Given the description of an element on the screen output the (x, y) to click on. 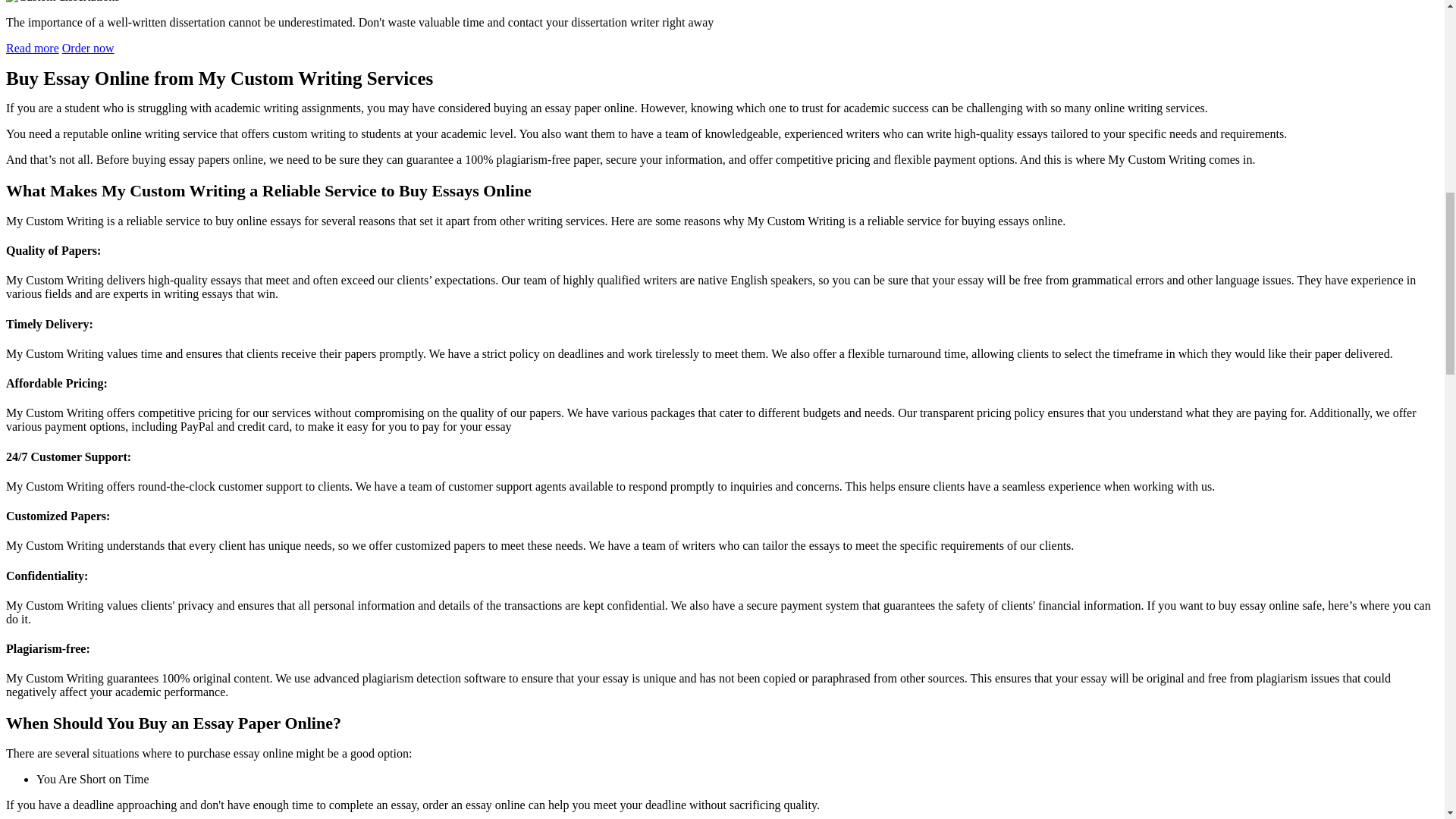
Read more (32, 47)
Order now (88, 47)
